Given the description of an element on the screen output the (x, y) to click on. 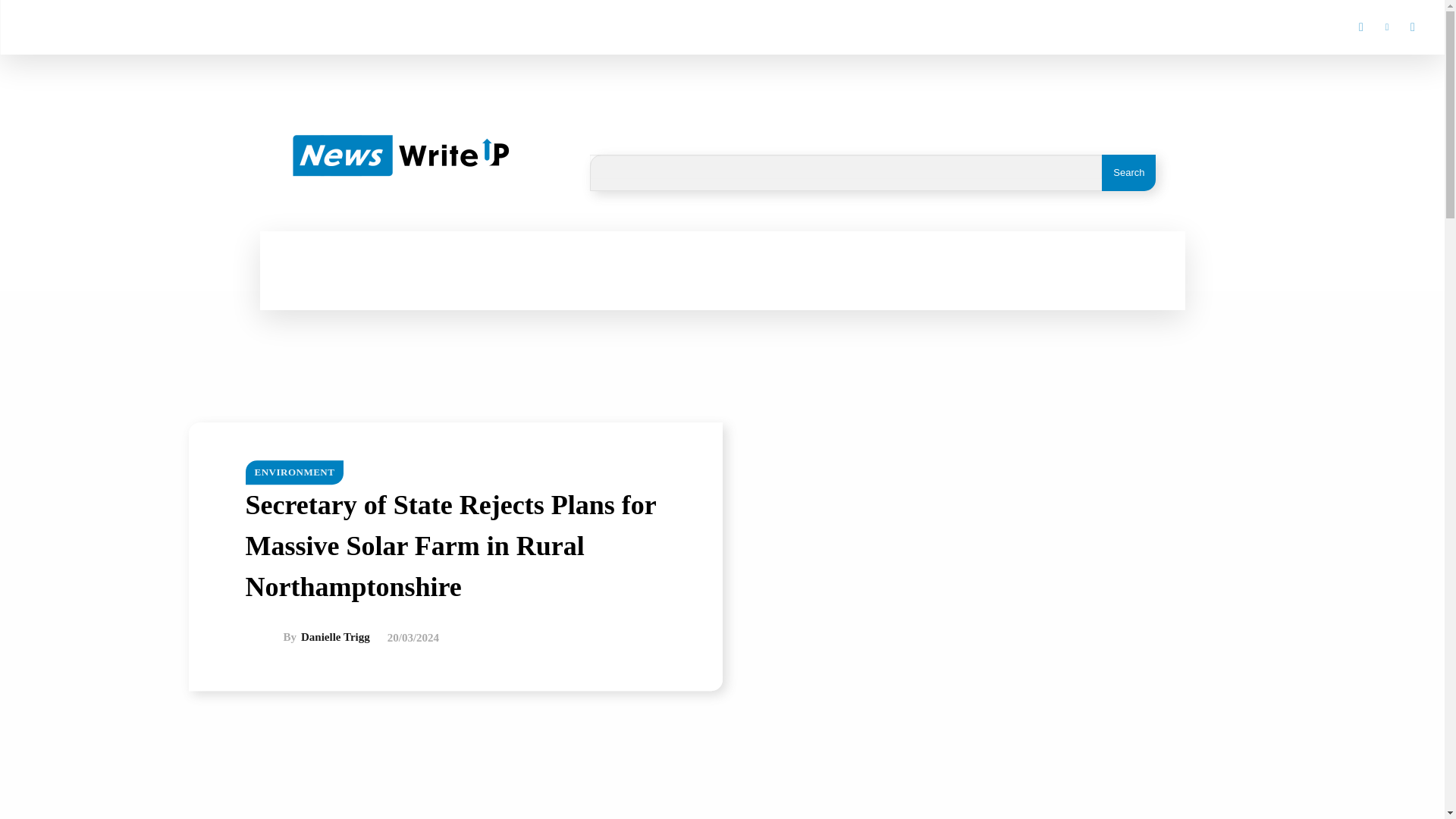
Twitter (1412, 27)
Facebook (1361, 27)
Linkedin (1386, 27)
Danielle Trigg (264, 637)
